Given the description of an element on the screen output the (x, y) to click on. 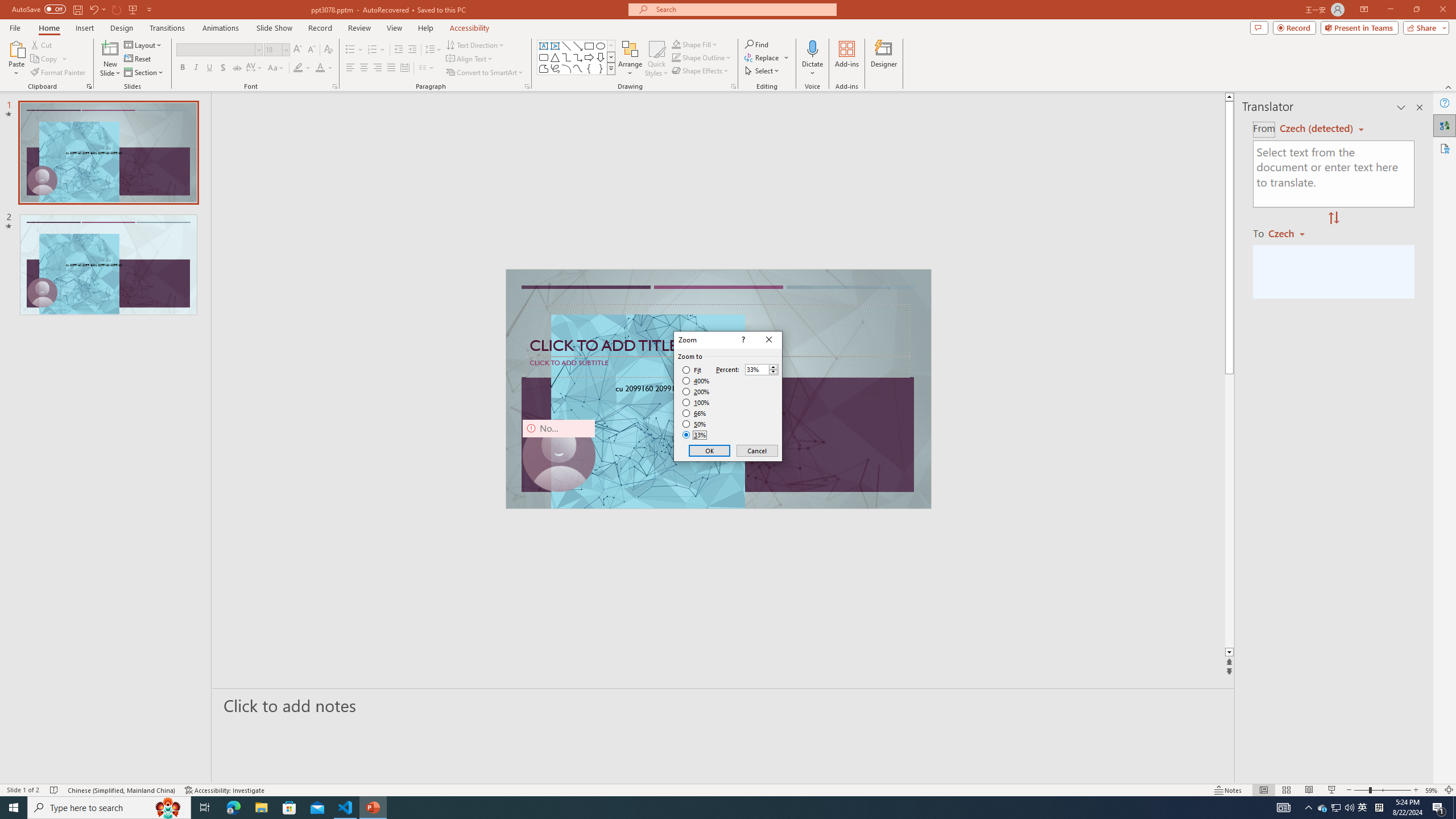
Microsoft Edge (233, 807)
Zoom 59% (1431, 790)
50% (694, 424)
Change Case (276, 67)
Justify (390, 67)
Swap "from" and "to" languages. (1333, 218)
